Given the description of an element on the screen output the (x, y) to click on. 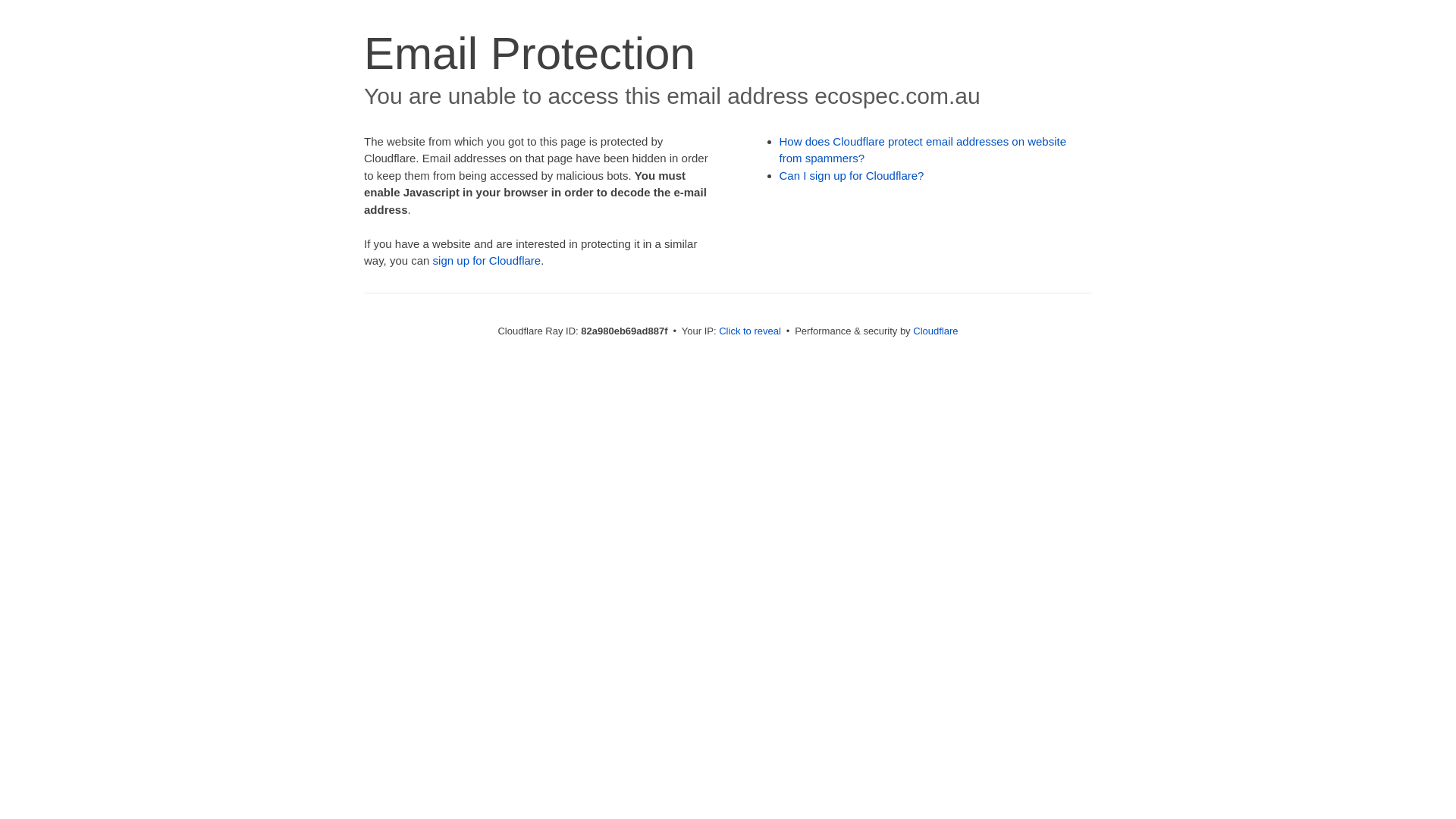
Cloudflare Element type: text (935, 330)
sign up for Cloudflare Element type: text (487, 260)
Click to reveal Element type: text (749, 330)
Can I sign up for Cloudflare? Element type: text (851, 175)
